Given the description of an element on the screen output the (x, y) to click on. 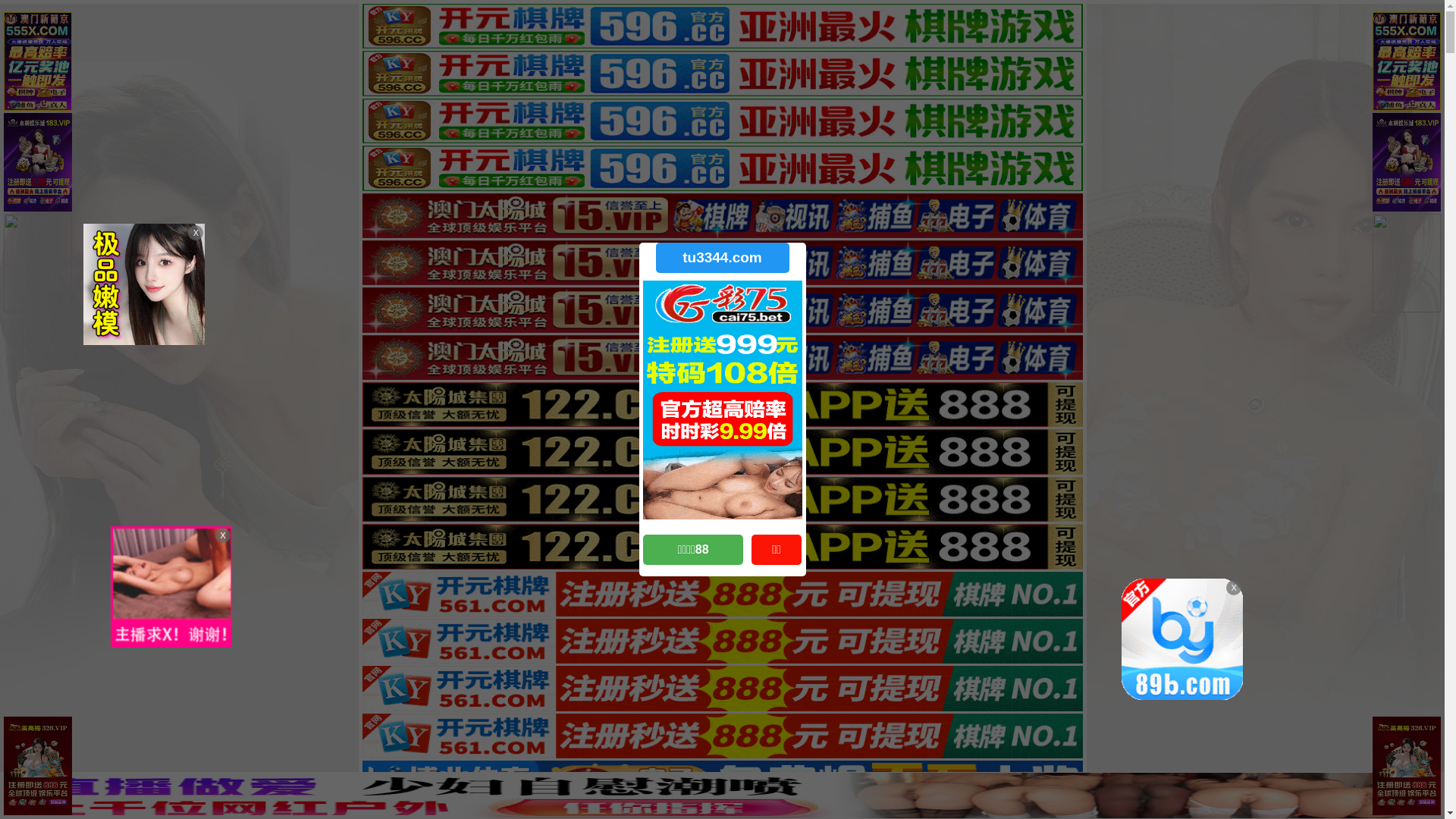
tu3344.com Element type: text (721, 257)
X Element type: text (1430, 789)
